Given the description of an element on the screen output the (x, y) to click on. 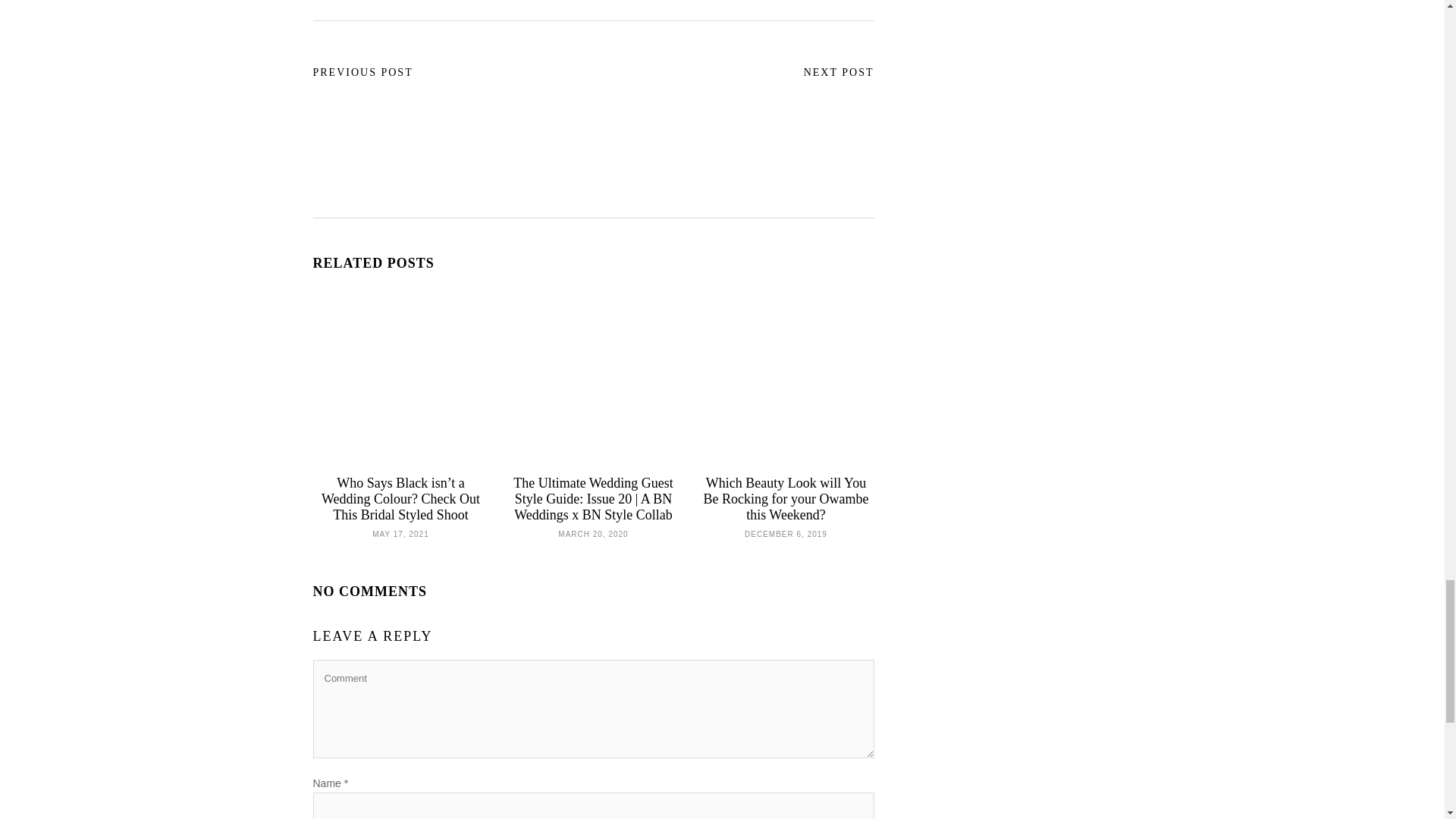
MAY 17, 2021 (400, 532)
MARCH 20, 2020 (592, 532)
PREVIOUS POST (362, 72)
NEXT POST (839, 72)
